Given the description of an element on the screen output the (x, y) to click on. 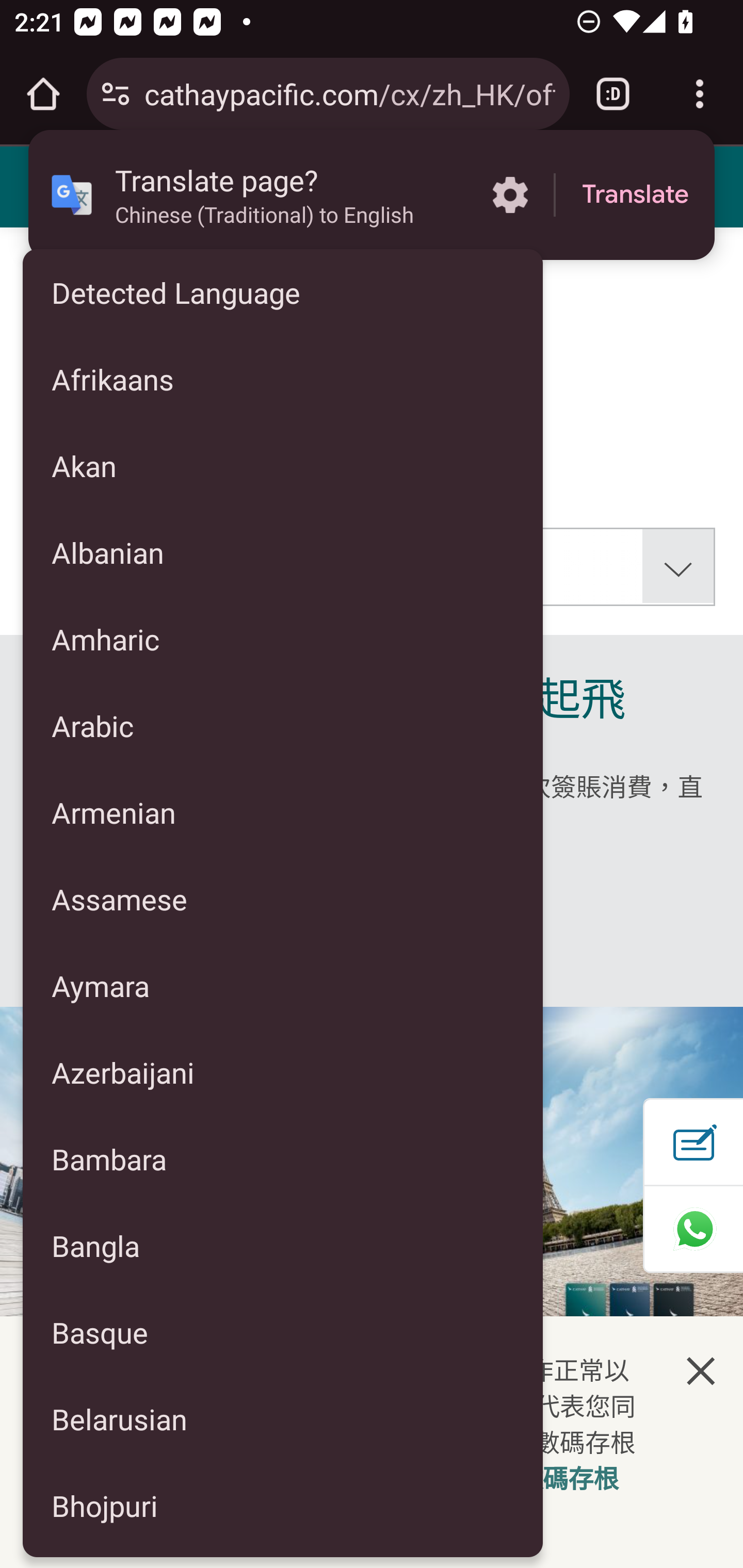
Detected Language (283, 292)
Afrikaans (283, 378)
Akan (283, 465)
Albanian (283, 552)
Amharic (283, 638)
Arabic (283, 725)
Armenian (283, 812)
Assamese (283, 899)
Aymara (283, 985)
Azerbaijani (283, 1072)
Bambara (283, 1159)
Bangla (283, 1245)
Basque (283, 1331)
Belarusian (283, 1418)
Bhojpuri (283, 1505)
